Given the description of an element on the screen output the (x, y) to click on. 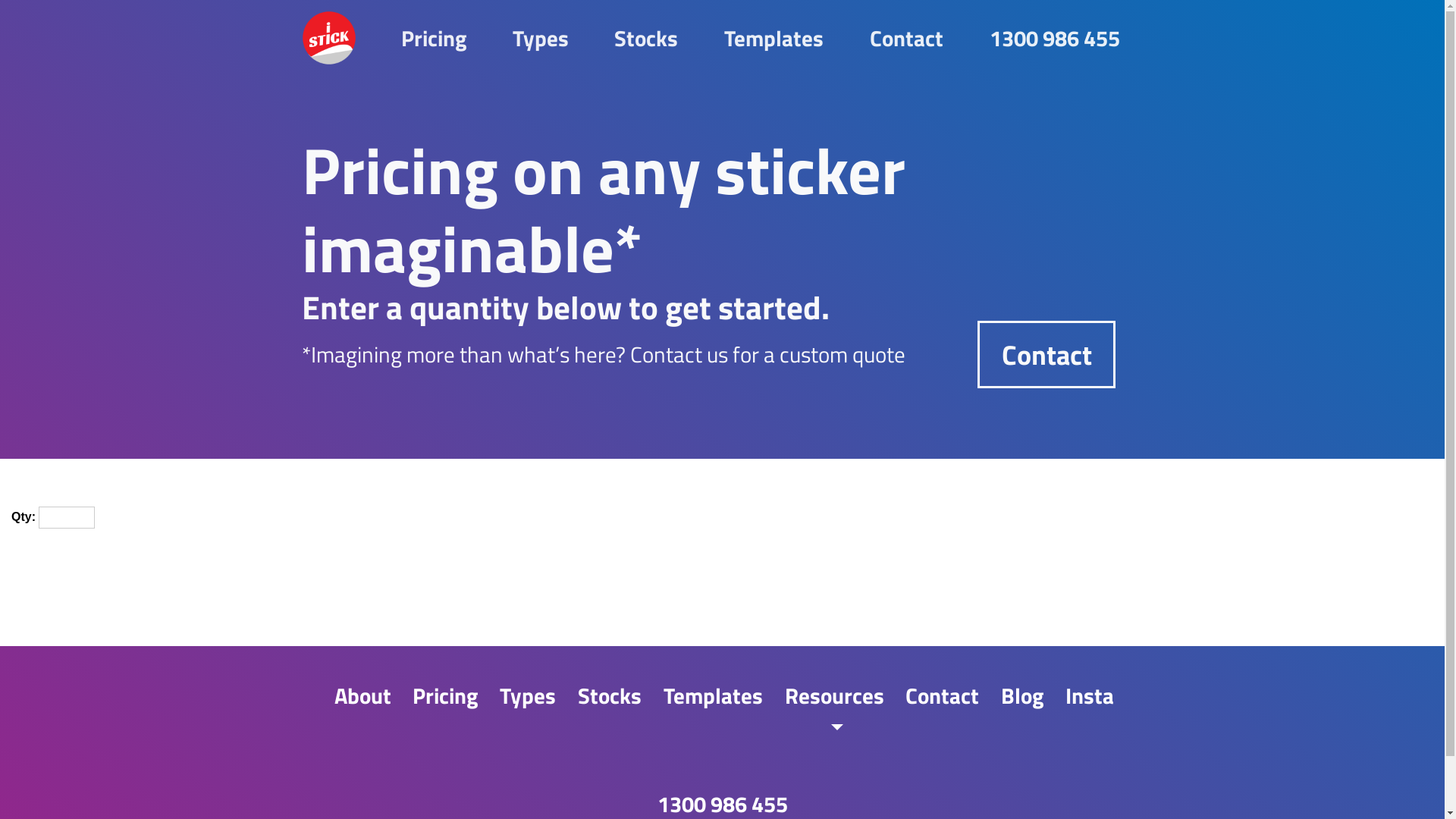
Stocks Element type: text (646, 37)
Pricing Element type: text (433, 37)
Resources Element type: text (833, 711)
Blog Element type: text (1022, 695)
Types Element type: text (540, 37)
Istick Home Element type: hover (328, 37)
Templates Element type: text (774, 37)
Templates Element type: text (712, 695)
Stocks Element type: text (609, 695)
About Element type: text (362, 695)
Contact Element type: text (906, 37)
1300 986 455 Element type: text (1054, 37)
Contact Element type: text (1046, 354)
Types Element type: text (528, 695)
Contact Element type: text (942, 695)
Insta Element type: text (1089, 695)
Pricing Element type: text (445, 695)
